Given the description of an element on the screen output the (x, y) to click on. 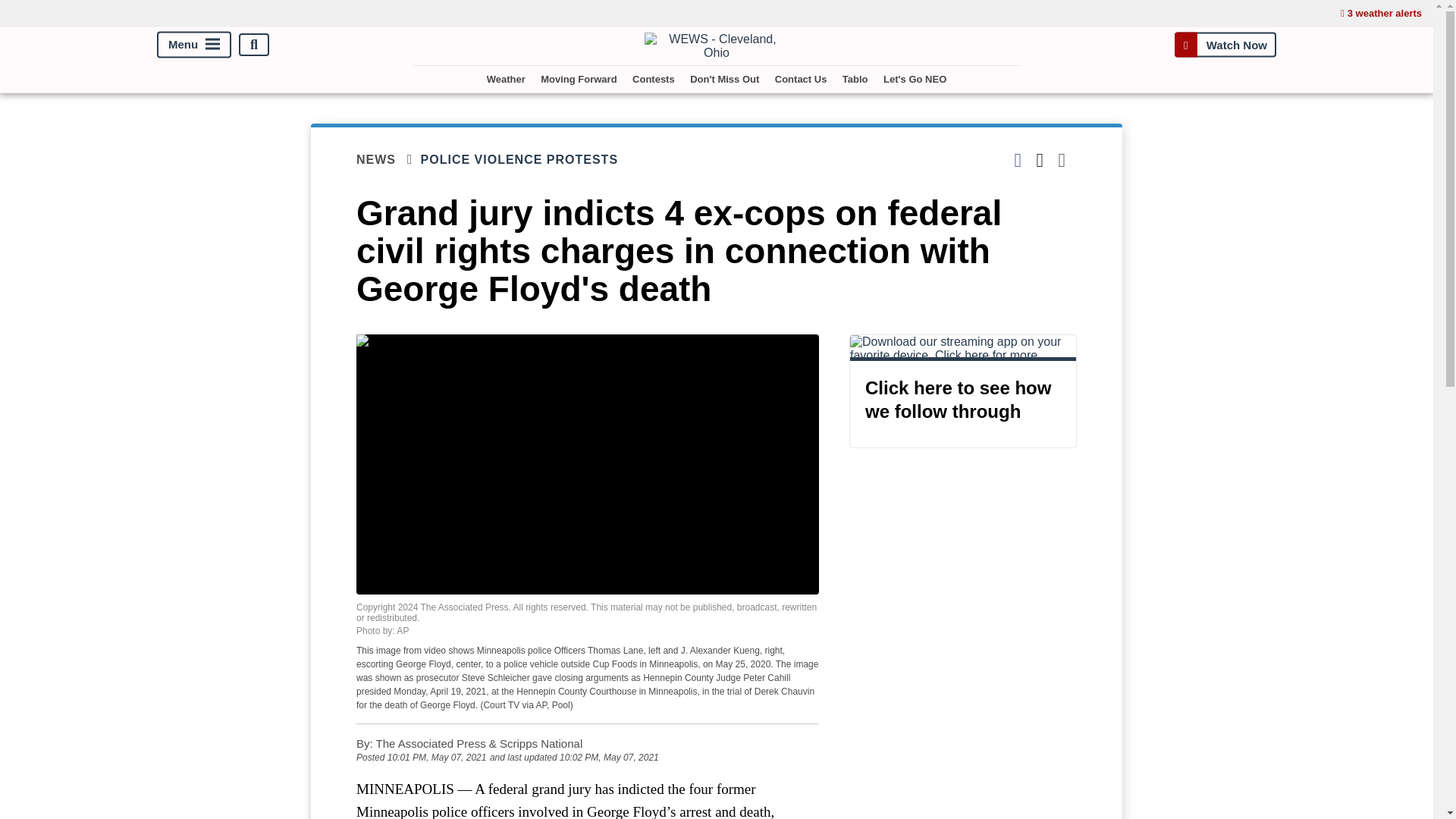
Watch Now (1224, 43)
Menu (194, 44)
